Given the description of an element on the screen output the (x, y) to click on. 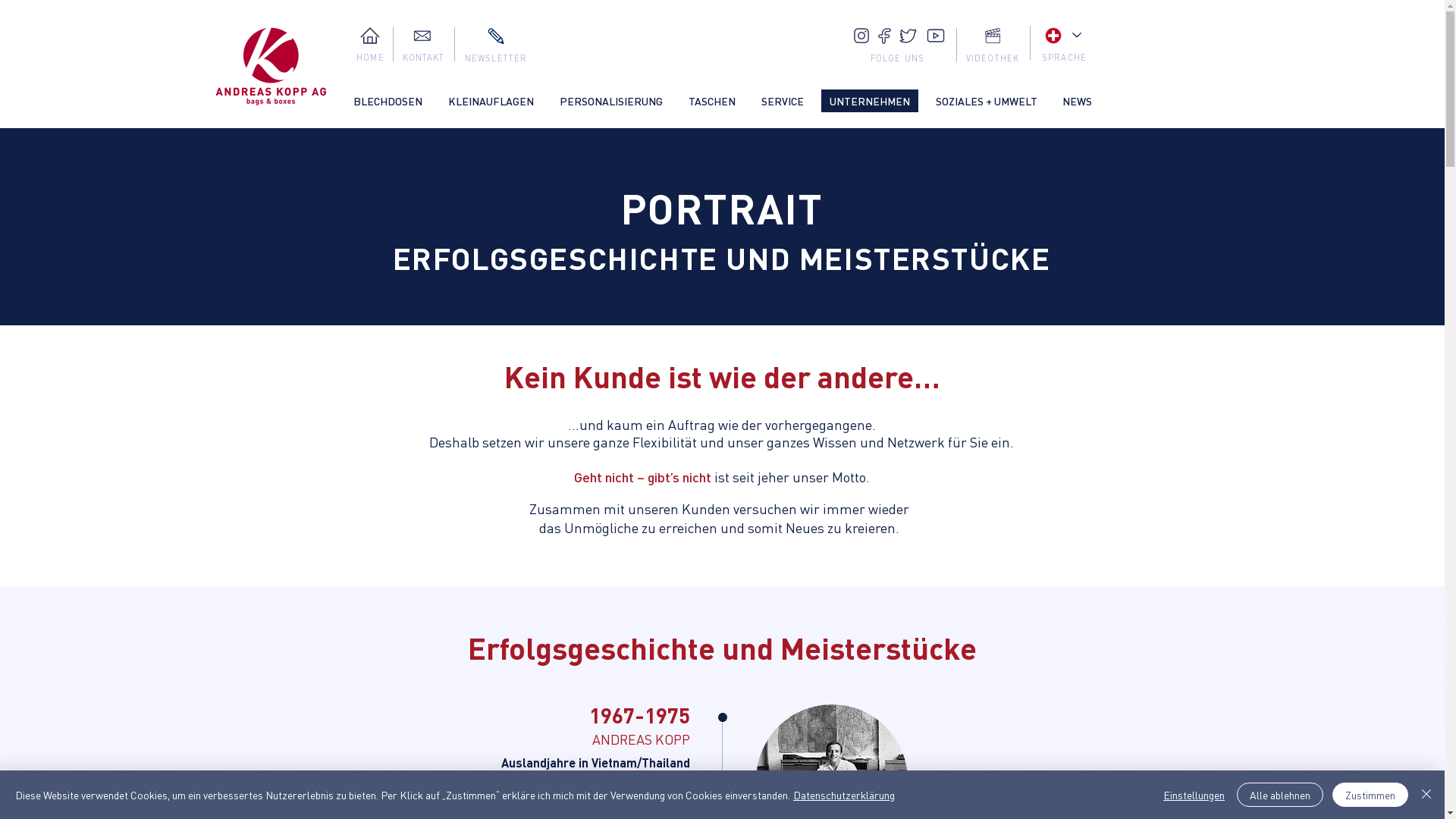
TASCHEN Element type: text (711, 100)
SOZIALES + UMWELT Element type: text (985, 100)
ANDREAS KOPP AG Element type: hover (270, 66)
NEWS Element type: text (1076, 100)
KLEINAUFLAGEN Element type: text (490, 100)
Home Element type: hover (369, 35)
Zustimmen Element type: text (1370, 794)
PERSONALISIERUNG Element type: text (610, 100)
BLECHDOSEN Element type: text (386, 100)
Alle ablehnen Element type: text (1279, 794)
Instagram  Element type: hover (861, 35)
Newsletter Element type: hover (494, 36)
UNTERNEHMEN Element type: text (868, 100)
SERVICE Element type: text (781, 100)
Kontakt Element type: hover (421, 35)
Youtube Element type: hover (935, 35)
Facebook Element type: hover (883, 35)
Twitter Element type: hover (908, 35)
Videothek Element type: hover (991, 35)
